Given the description of an element on the screen output the (x, y) to click on. 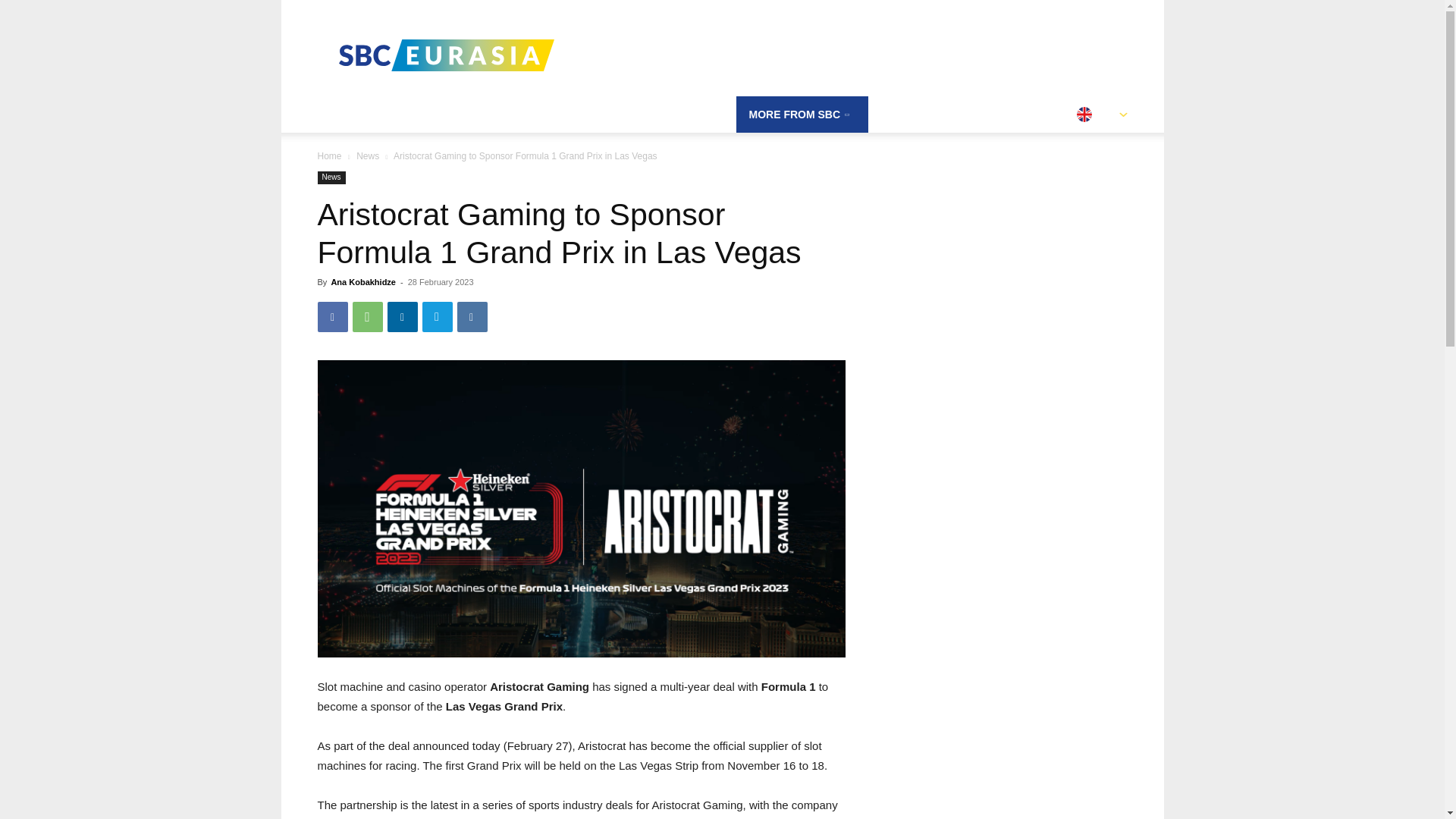
WhatsApp (366, 317)
Facebook (332, 317)
View all posts in News (367, 155)
SBC Eurasia (445, 54)
Telegram (436, 317)
Linkedin (401, 317)
VK (471, 317)
